Given the description of an element on the screen output the (x, y) to click on. 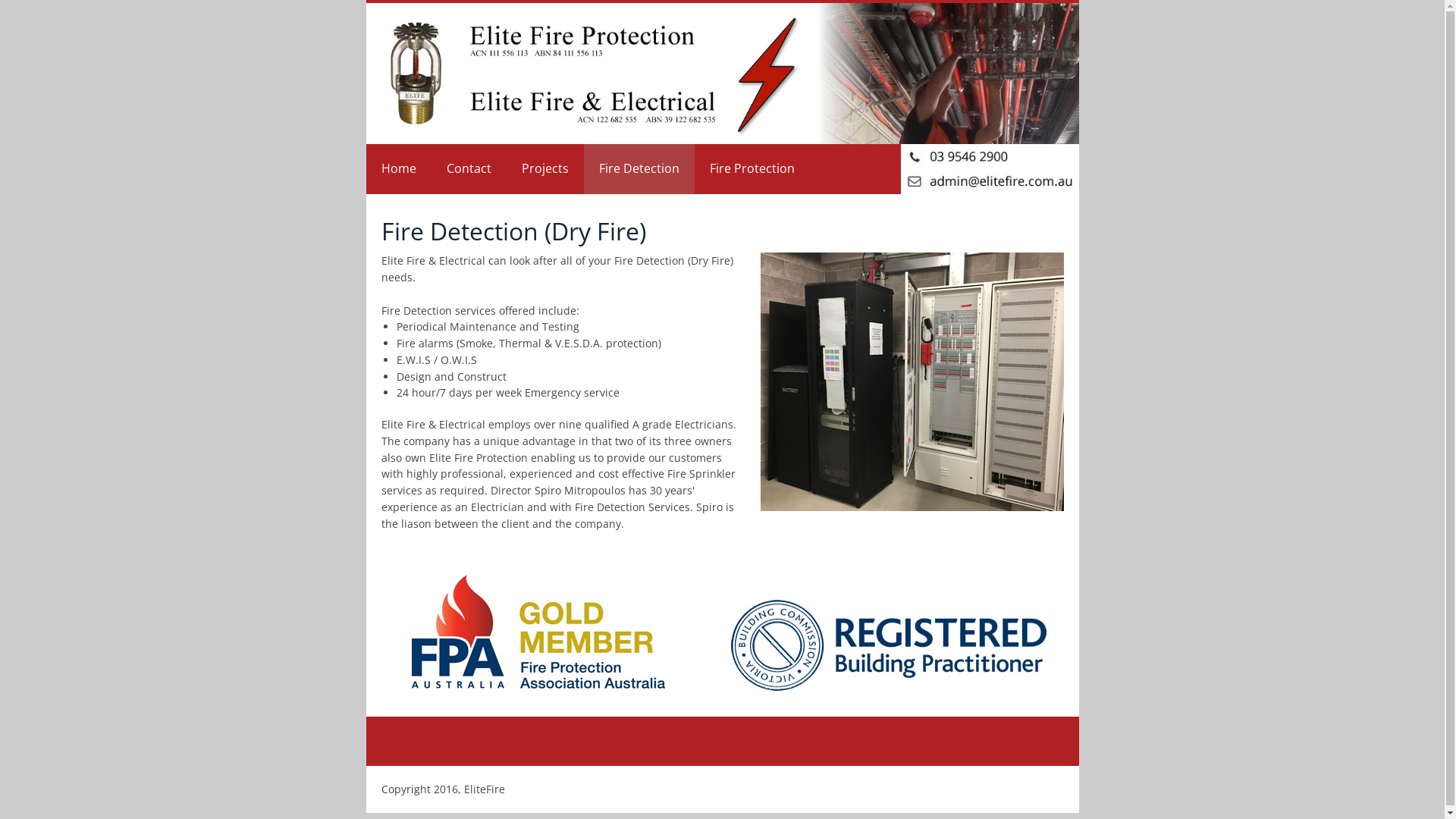
Home Element type: text (397, 169)
Projects Element type: text (544, 169)
Fire Detection Element type: text (638, 169)
Contact Element type: text (467, 169)
Fire Protection Element type: text (751, 169)
